Given the description of an element on the screen output the (x, y) to click on. 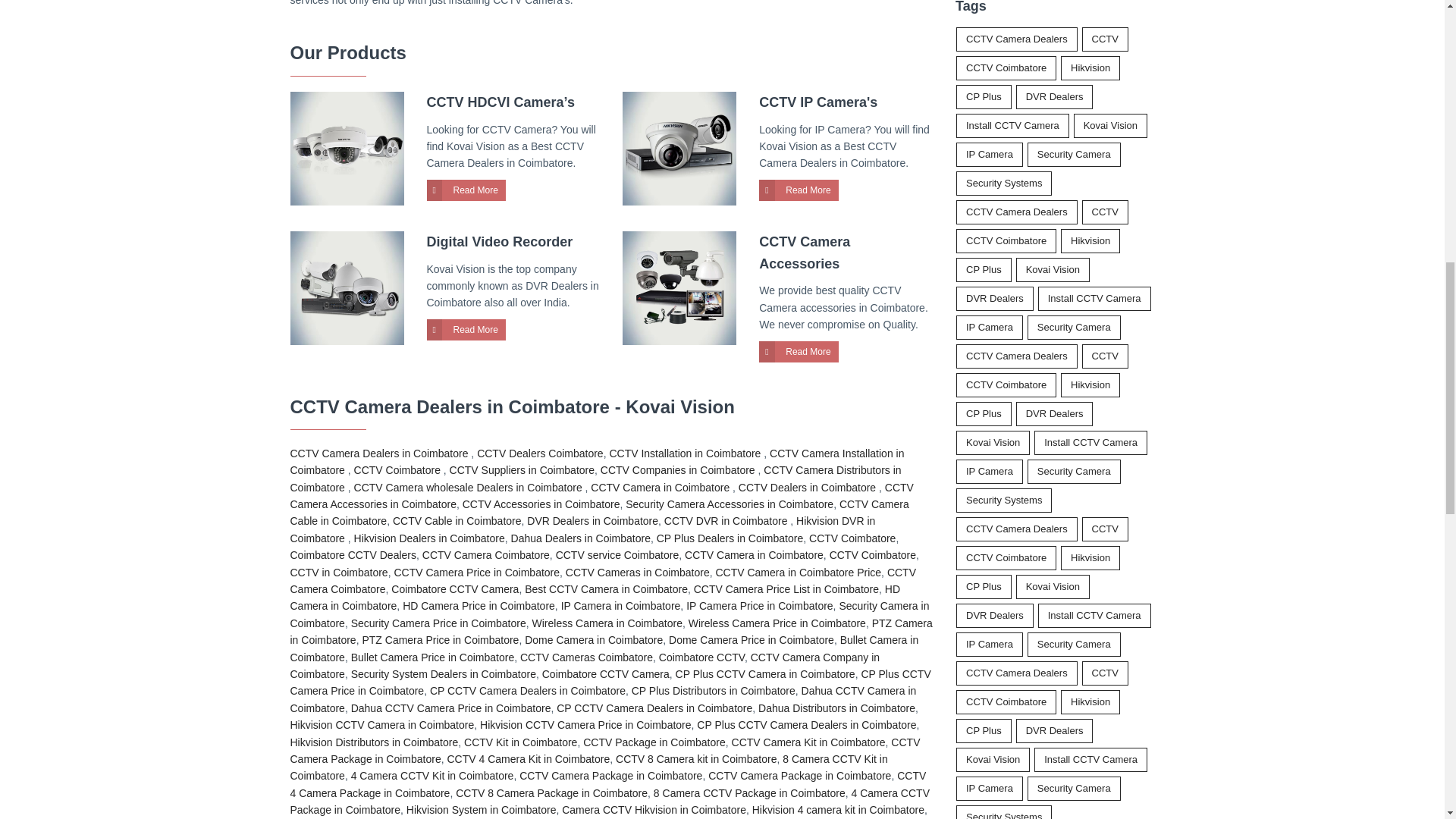
Read More (465, 189)
Read More (798, 189)
